Given the description of an element on the screen output the (x, y) to click on. 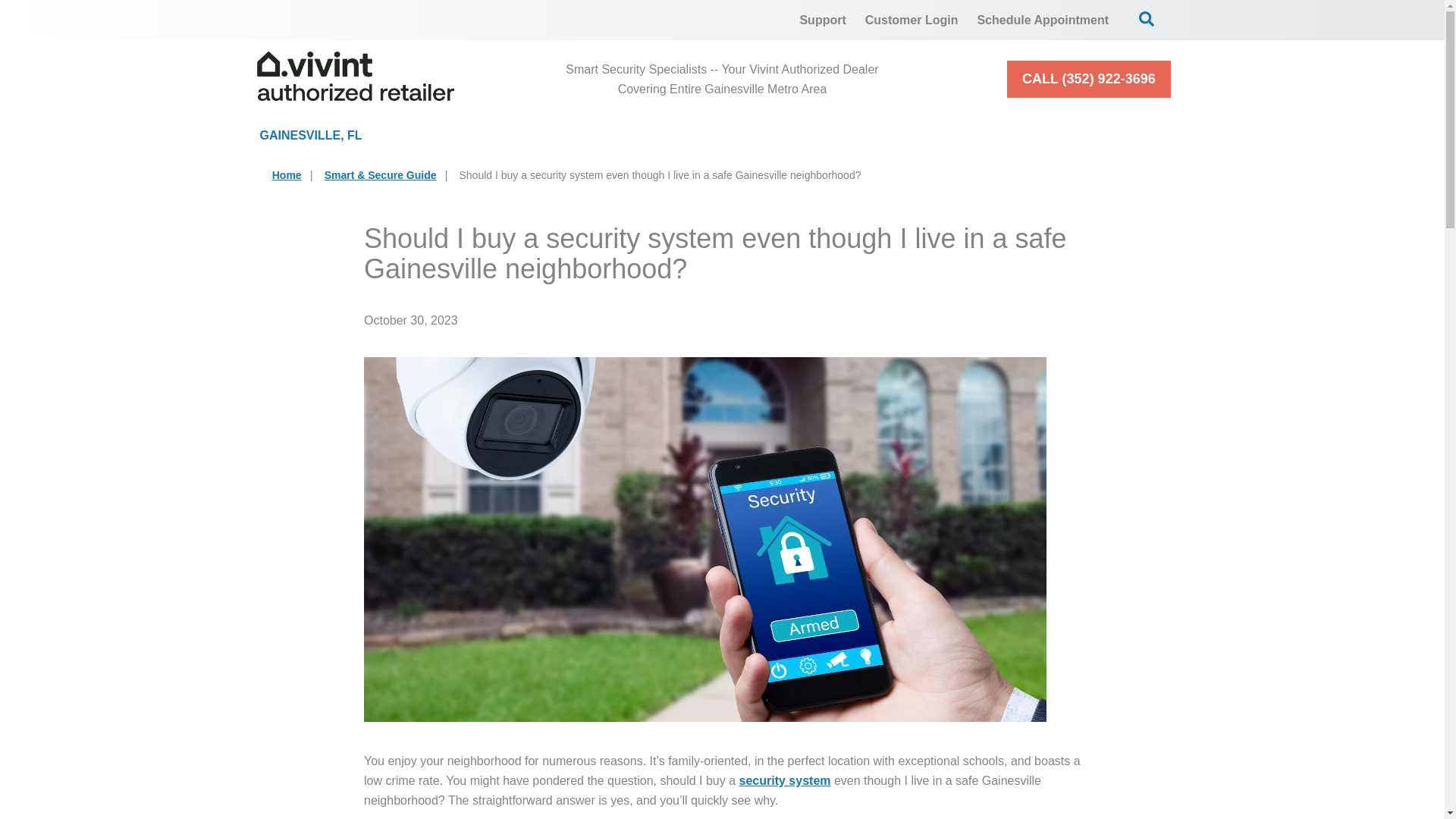
Smart Home Automation (868, 135)
Security system (785, 780)
Customer Login (911, 20)
Schedule Appointment (1042, 20)
Home (286, 174)
Open Search (1146, 18)
Home Security (499, 135)
Cameras (669, 135)
Support (822, 20)
security system (785, 780)
